Given the description of an element on the screen output the (x, y) to click on. 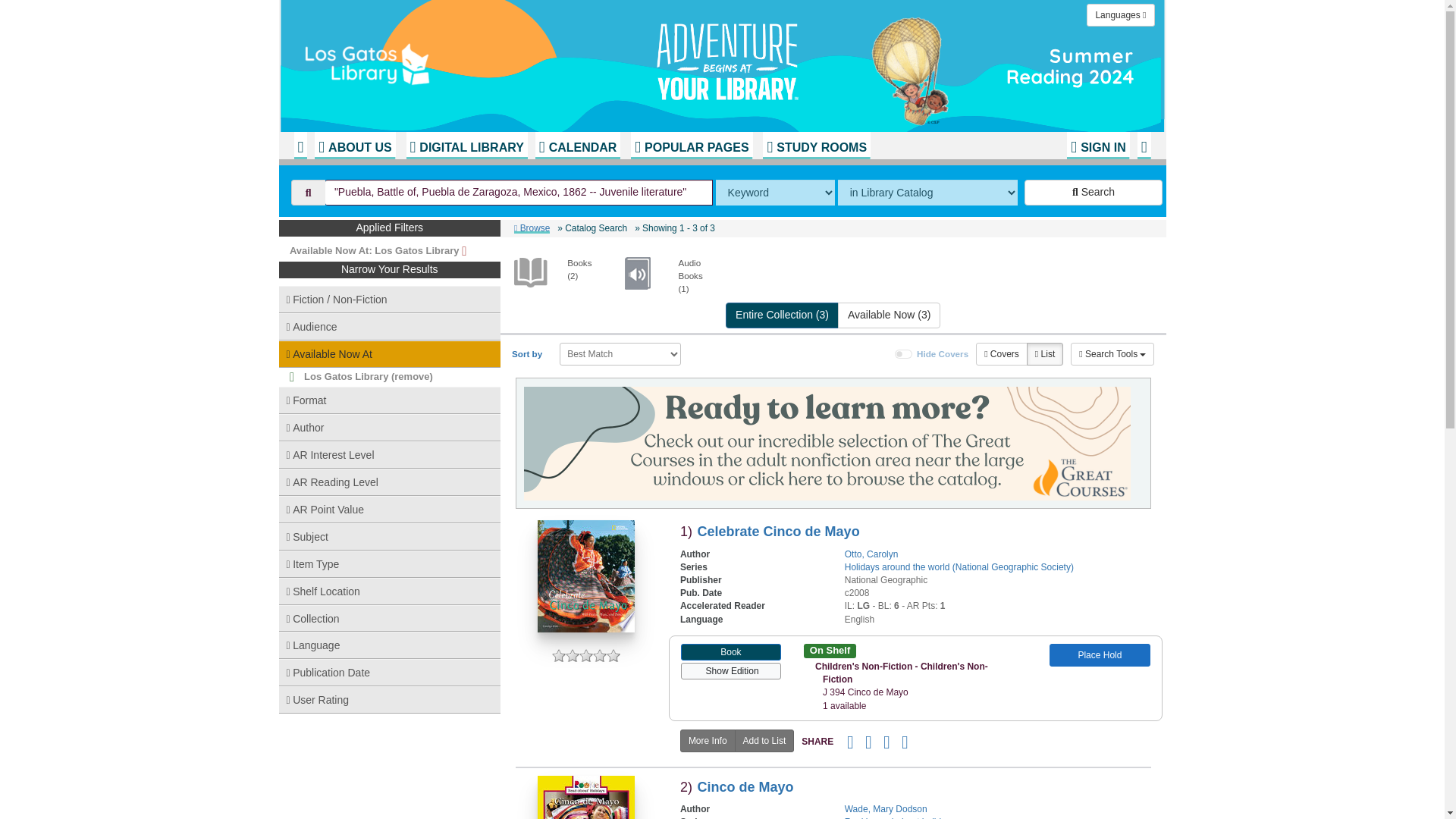
SIGN IN (1098, 144)
POPULAR PAGES (691, 144)
ABOUT US (354, 144)
Library Home Page (483, 60)
 Search (1093, 192)
on (903, 353)
Languages  (1120, 15)
STUDY ROOMS (816, 144)
DIGITAL LIBRARY (466, 144)
